Given the description of an element on the screen output the (x, y) to click on. 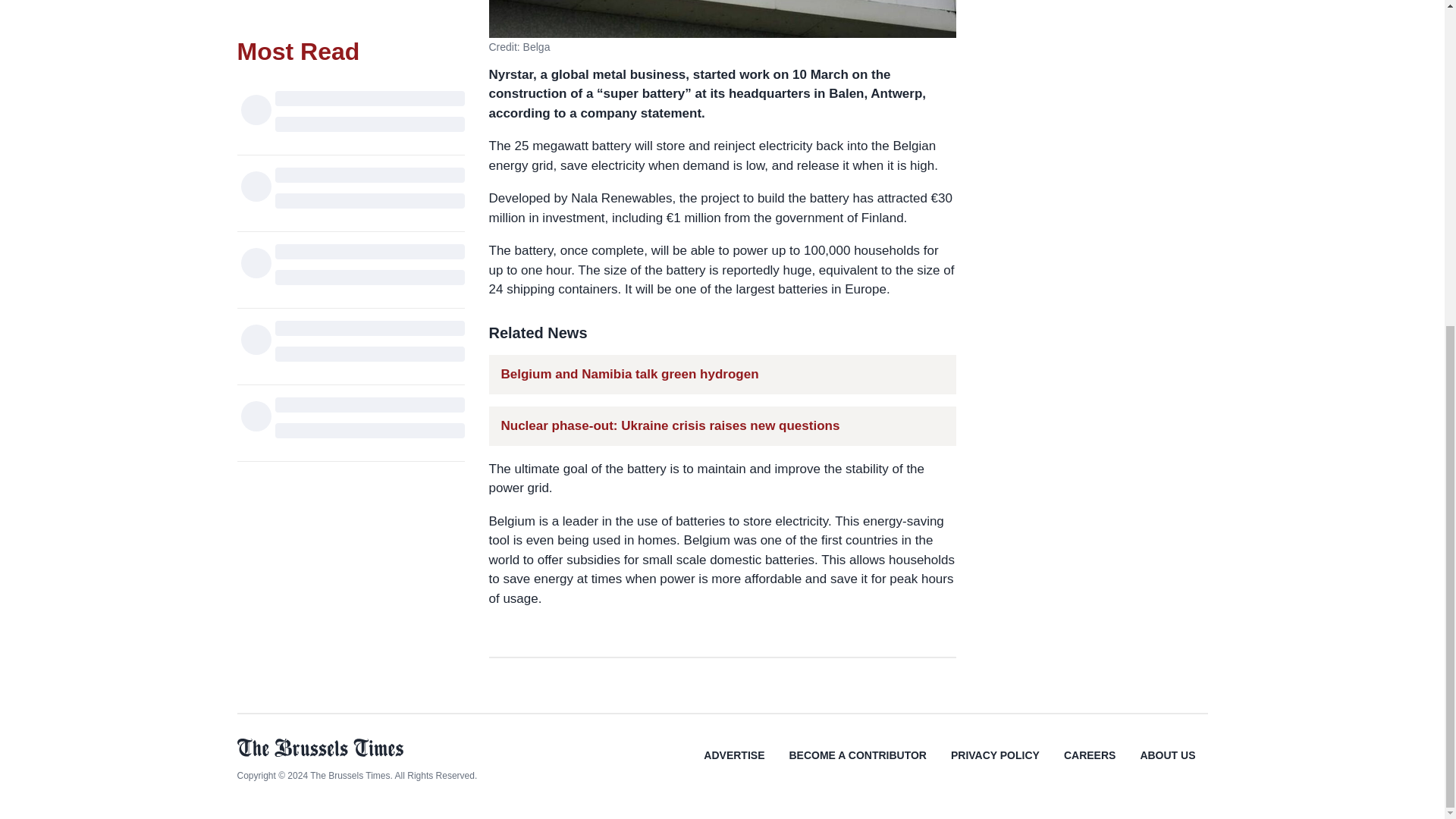
BECOME A CONTRIBUTOR (856, 766)
ADVERTISE (733, 766)
Nuclear phase-out: Ukraine crisis raises new questions (670, 425)
Belgium and Namibia talk green hydrogen (629, 373)
PRIVACY POLICY (995, 766)
ABOUT US (1166, 766)
CAREERS (1088, 766)
